Given the description of an element on the screen output the (x, y) to click on. 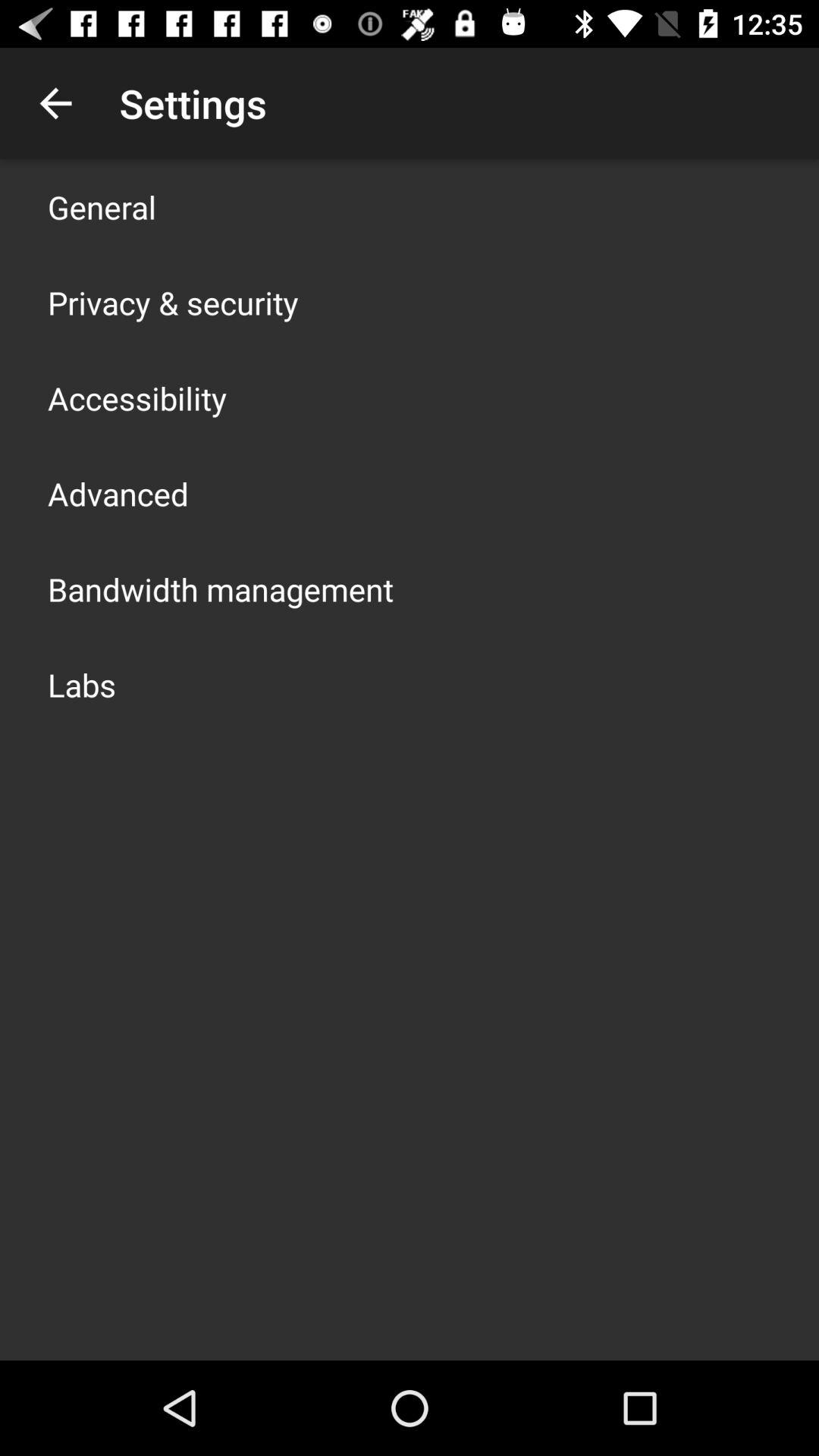
click the app to the left of settings icon (55, 103)
